Given the description of an element on the screen output the (x, y) to click on. 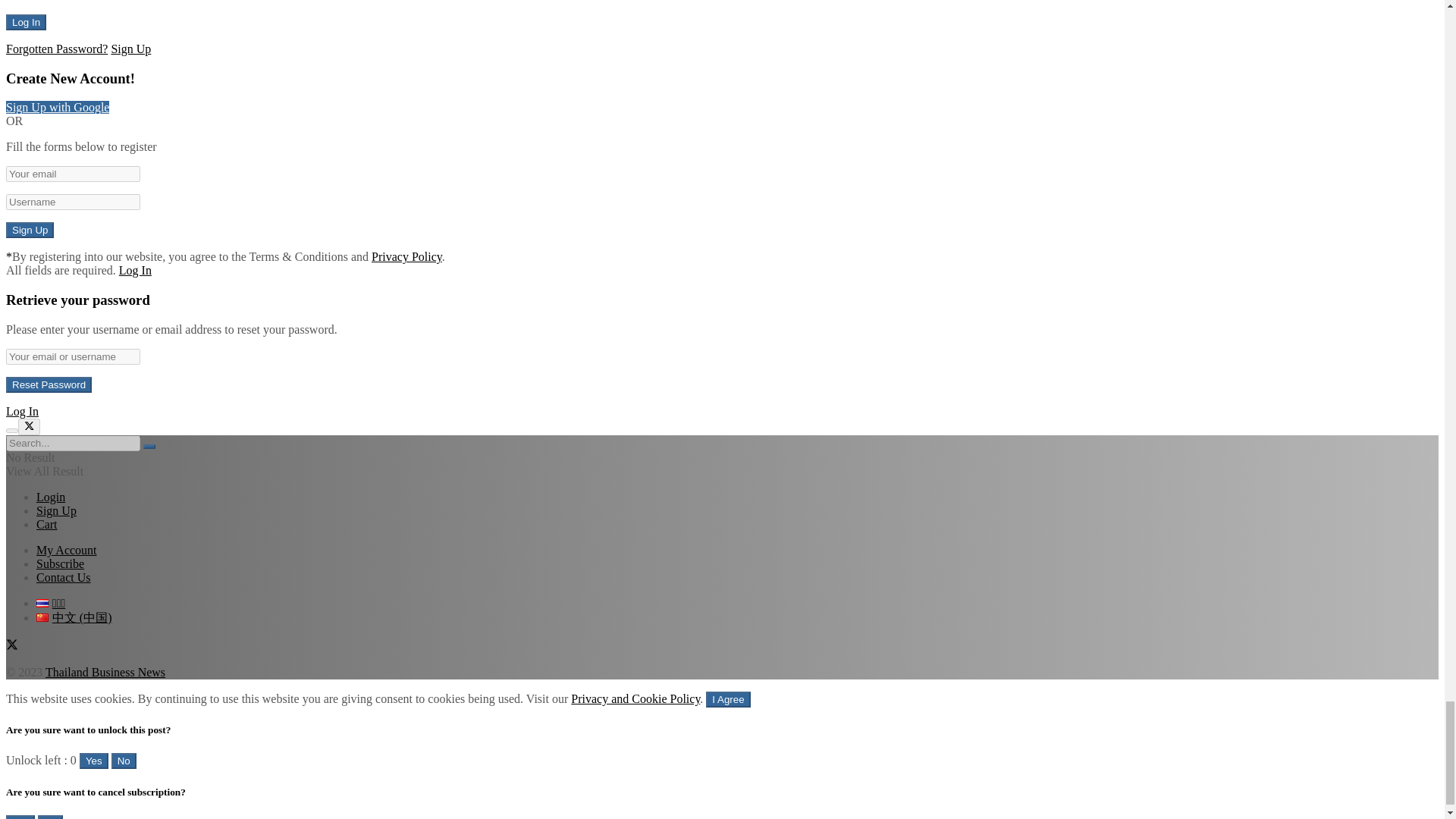
Reset Password (48, 384)
Log In (25, 22)
Sign Up (29, 229)
